Given the description of an element on the screen output the (x, y) to click on. 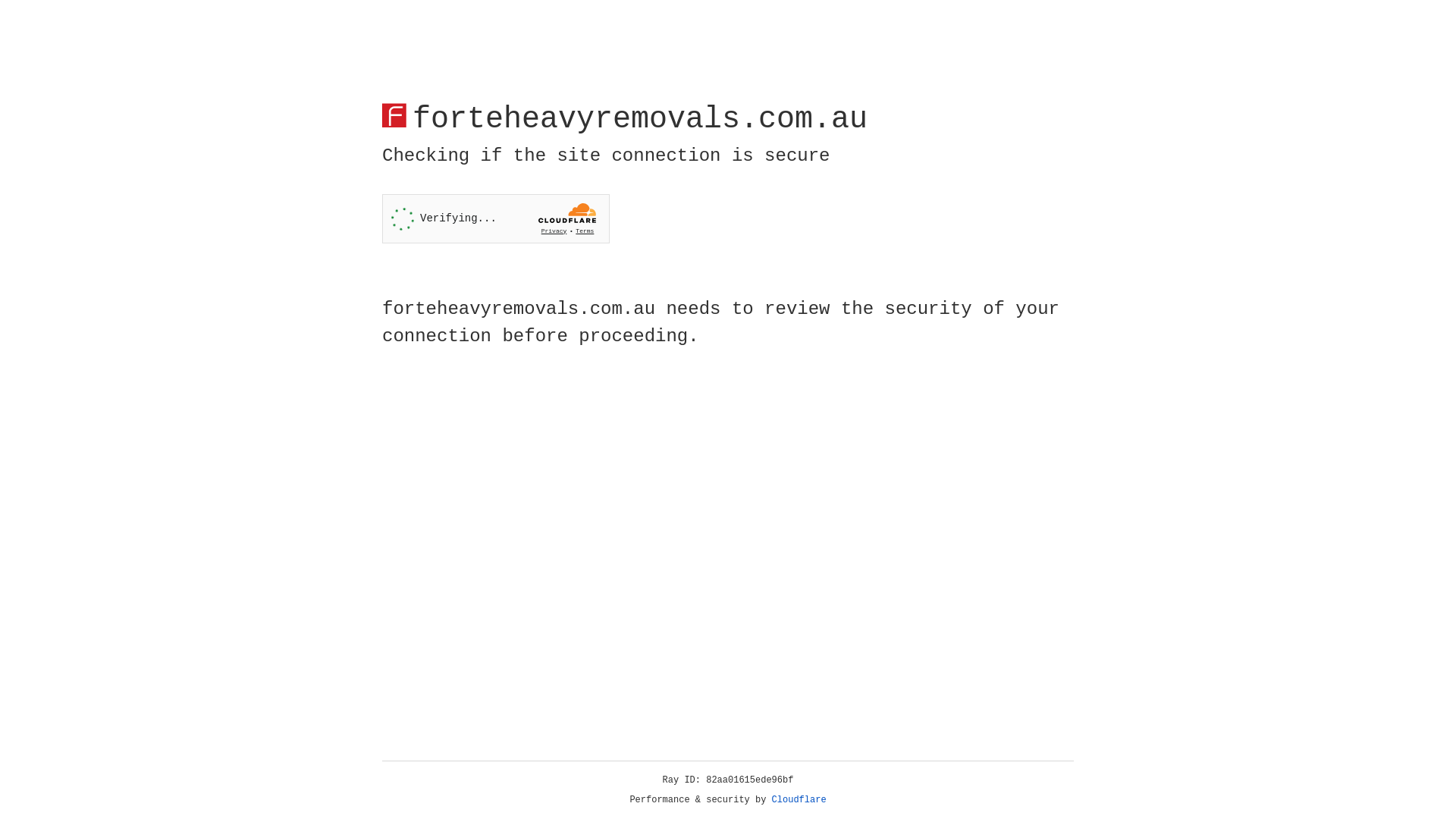
Widget containing a Cloudflare security challenge Element type: hover (495, 218)
Cloudflare Element type: text (798, 799)
